Given the description of an element on the screen output the (x, y) to click on. 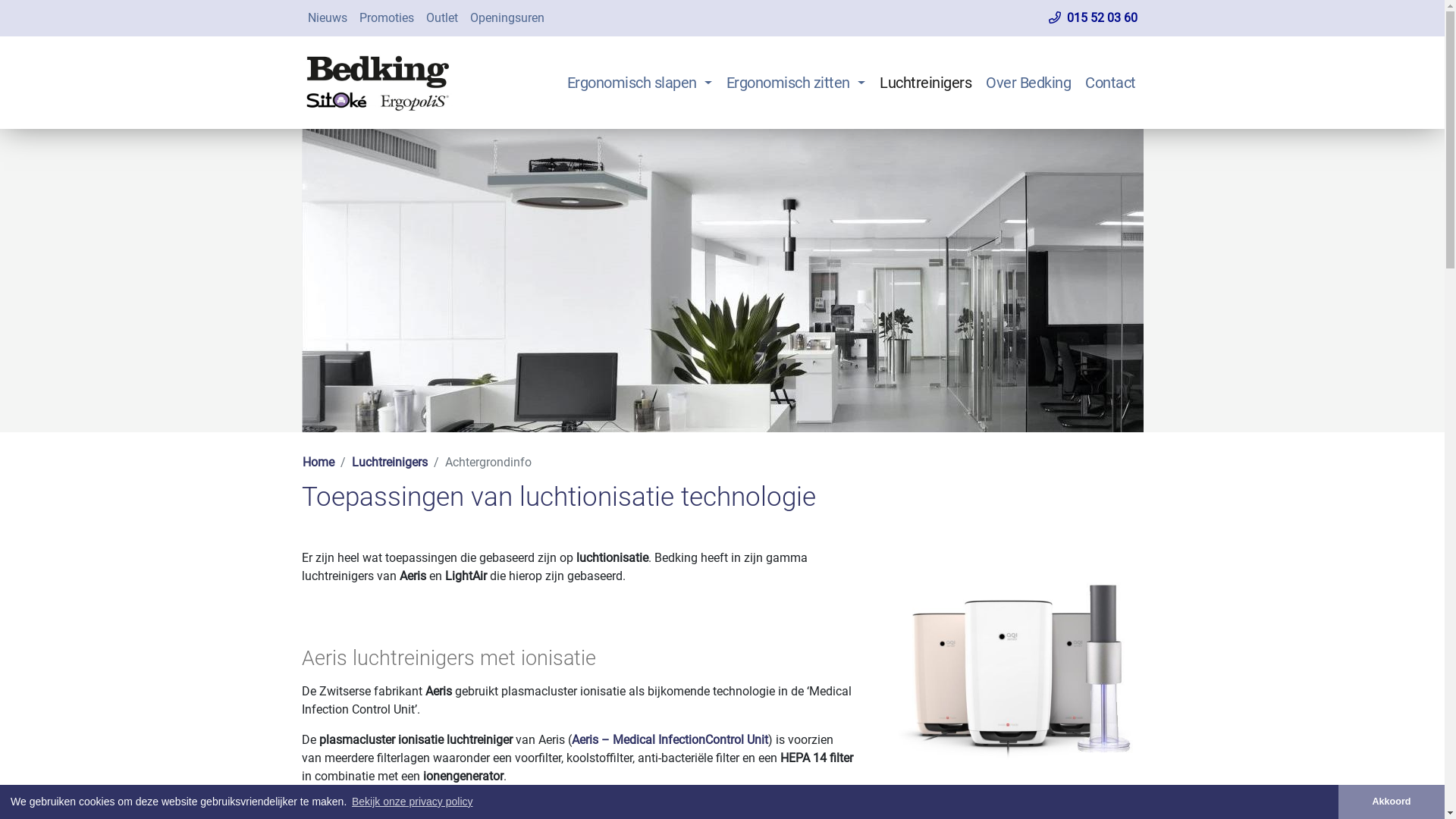
  015 52 03 60 Element type: text (1091, 18)
Bedking - ergonomische meubelen Element type: hover (377, 82)
Openingsuren Element type: text (507, 18)
Bekijk onze privacy policy Element type: text (411, 801)
Promoties Element type: text (386, 18)
Luchtreinigers Element type: text (389, 462)
Luchtreinigers Element type: text (925, 82)
Contact Element type: text (1110, 82)
Home Element type: text (317, 462)
Ergonomisch slapen Element type: text (638, 82)
Nieuws Element type: text (327, 18)
Over Bedking Element type: text (1028, 82)
Ergonomisch zitten Element type: text (795, 82)
Outlet Element type: text (442, 18)
